Given the description of an element on the screen output the (x, y) to click on. 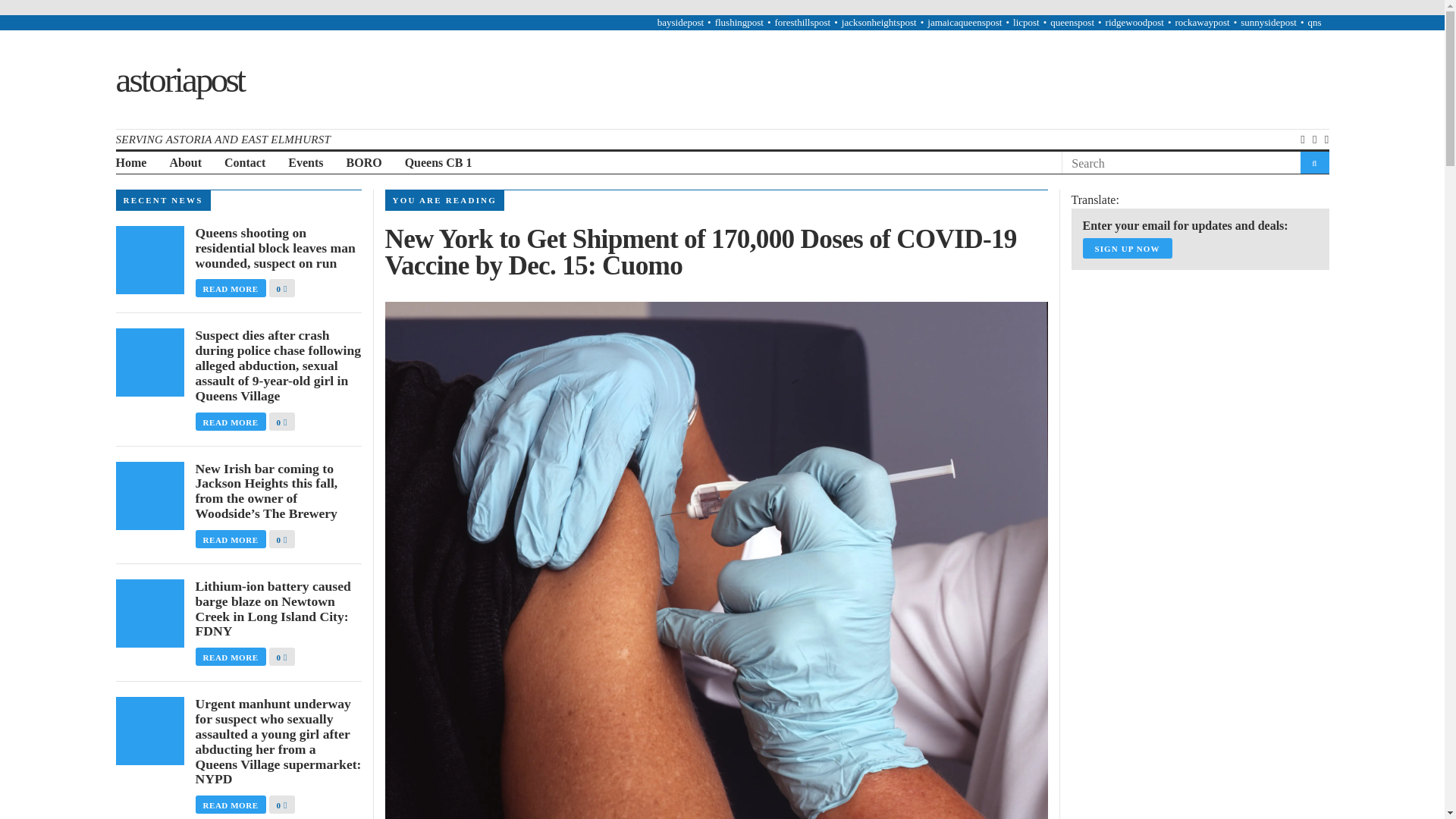
Events (305, 163)
baysidepost (680, 21)
BORO (363, 163)
flushingpost (738, 21)
qns (1313, 21)
jacksonheightspost (879, 21)
About (185, 163)
Home (131, 163)
Queens CB 1 (437, 163)
ridgewoodpost (1134, 21)
